Given the description of an element on the screen output the (x, y) to click on. 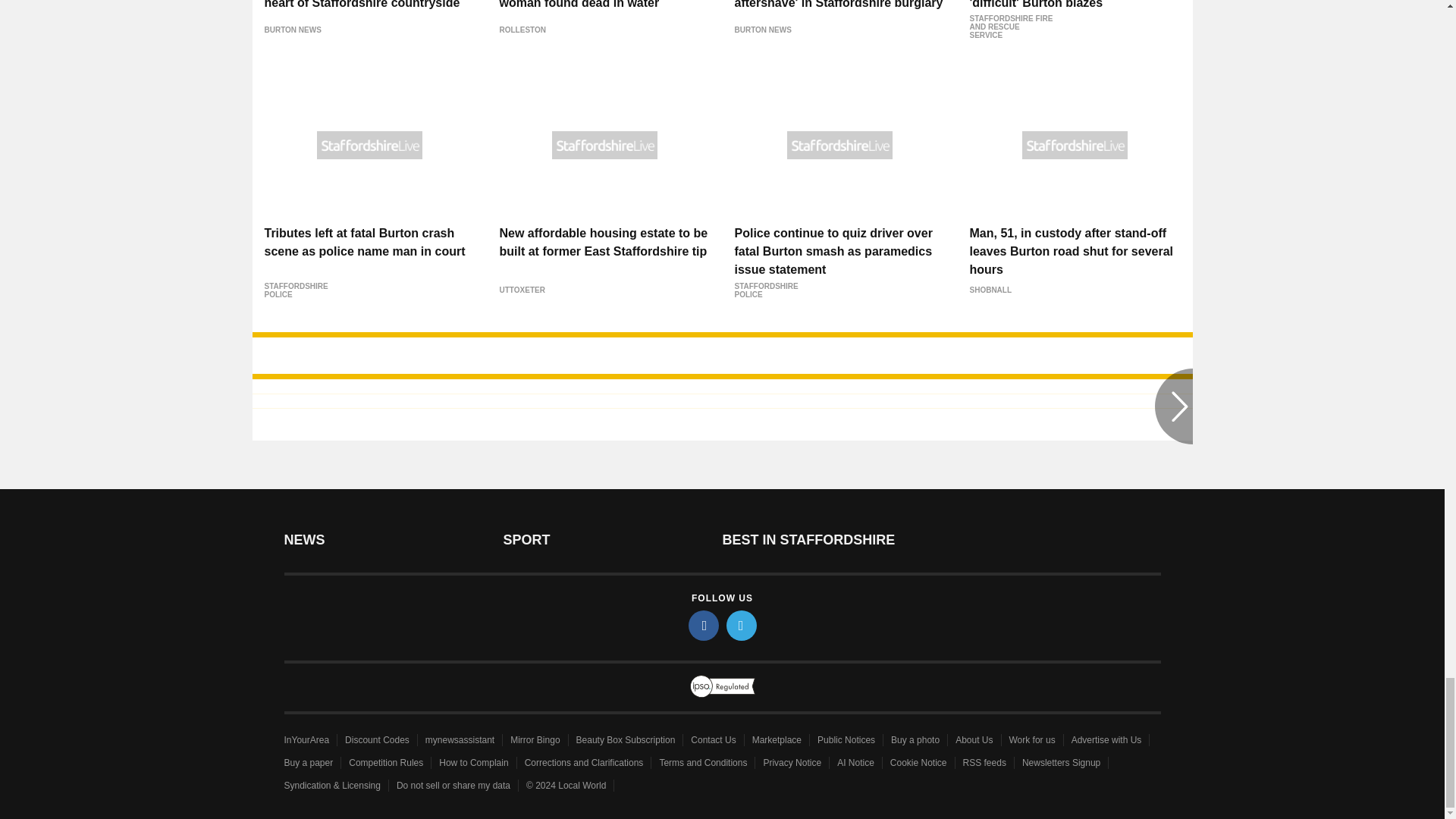
facebook (703, 625)
twitter (741, 625)
